Given the description of an element on the screen output the (x, y) to click on. 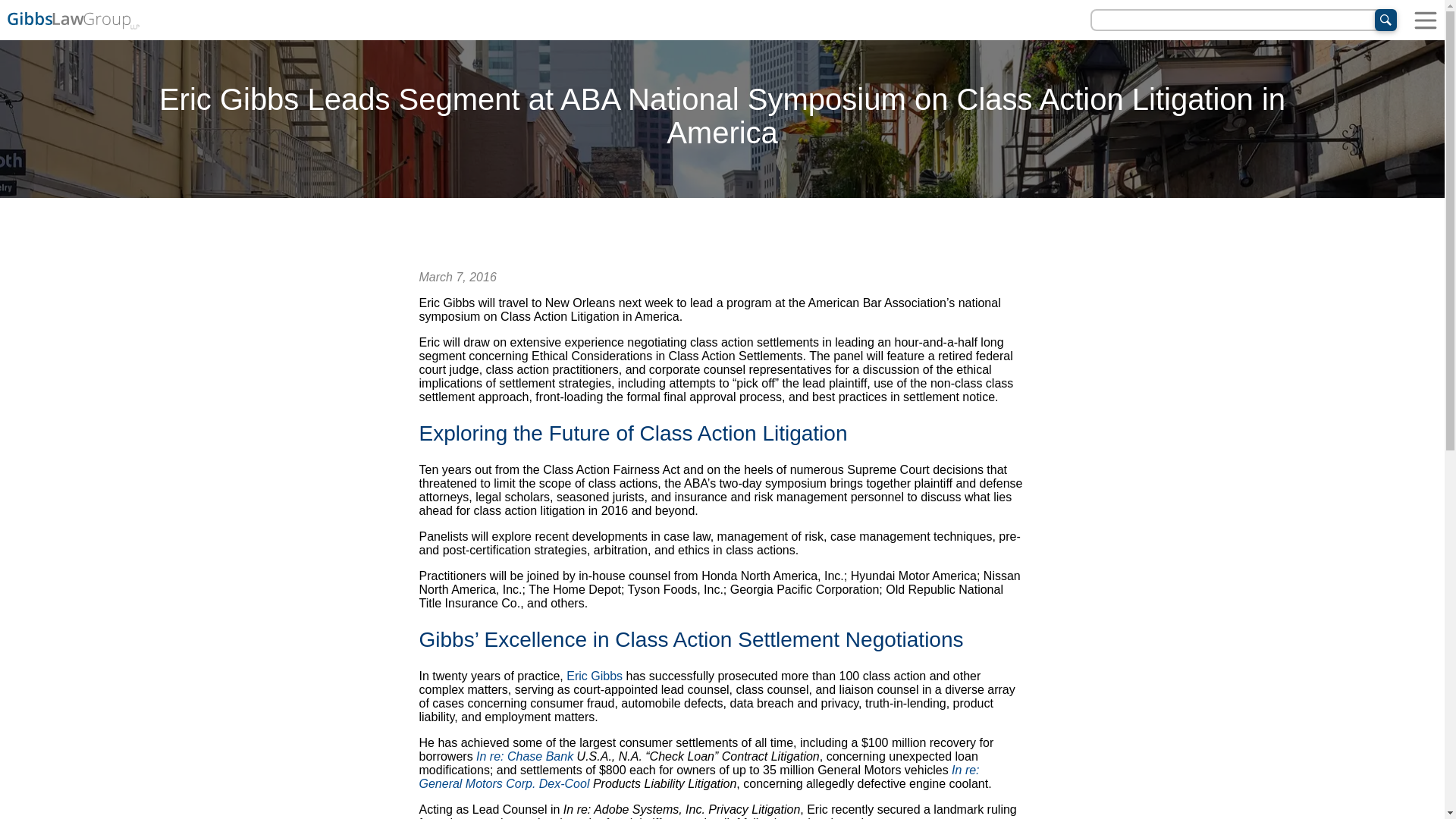
In re: Chase Bank (524, 756)
In re: General Motors Corp. Dex-Cool (698, 776)
Eric Gibbs (594, 675)
